Given the description of an element on the screen output the (x, y) to click on. 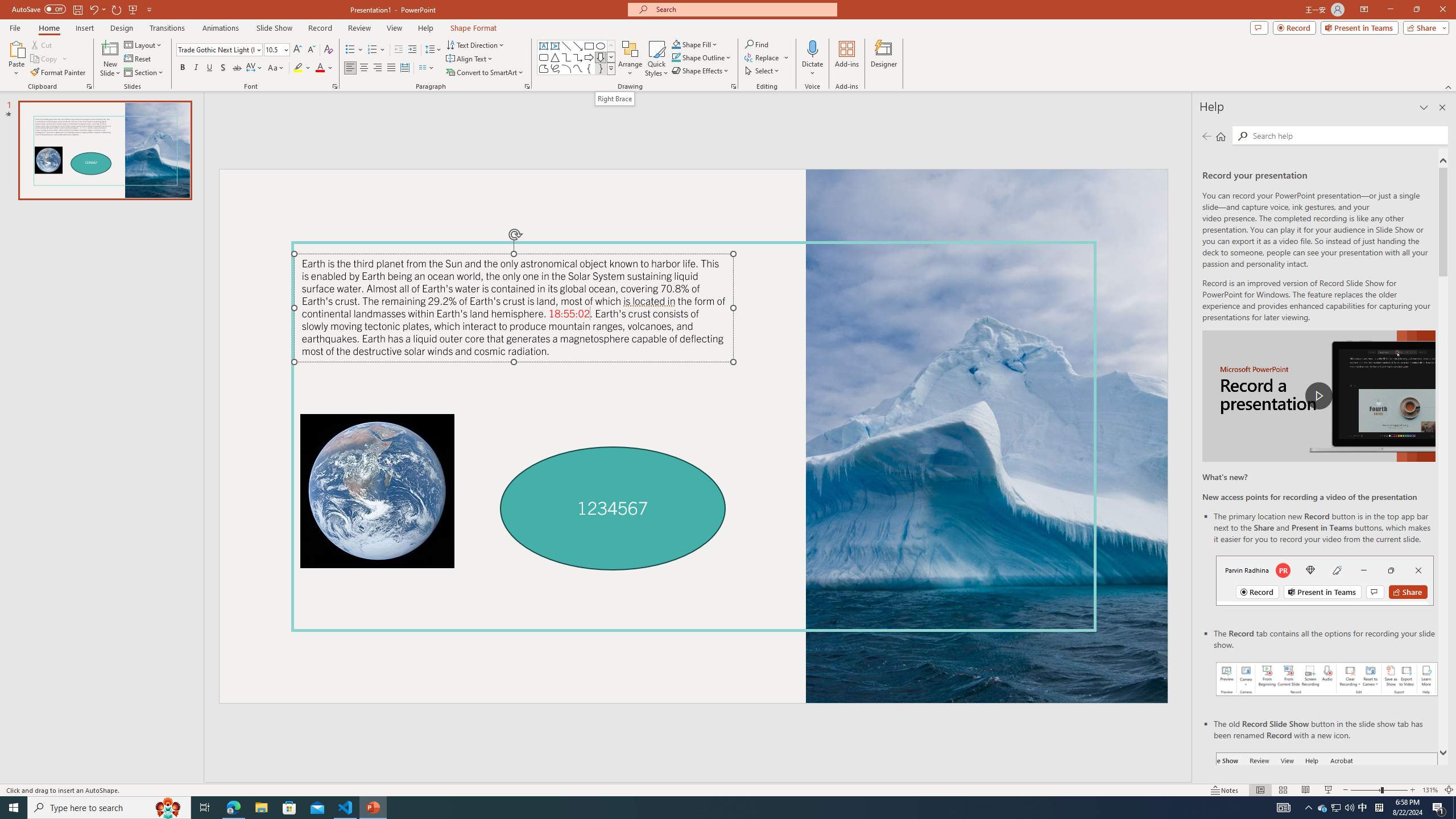
Shape Fill Aqua, Accent 2 (675, 44)
